Given the description of an element on the screen output the (x, y) to click on. 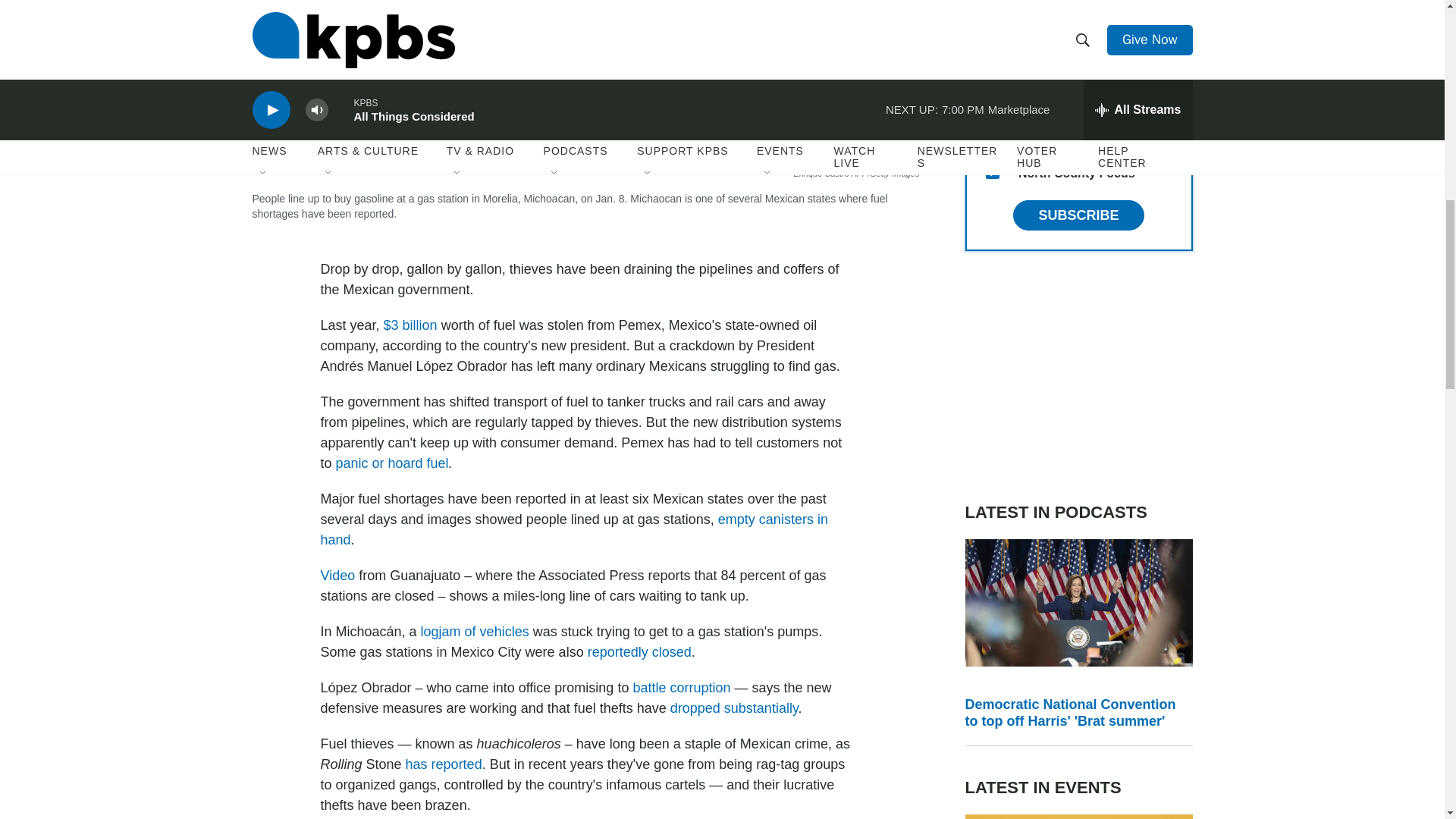
2 (991, 62)
1 (991, 99)
15 (991, 172)
6 (991, 26)
8 (991, 135)
